Given the description of an element on the screen output the (x, y) to click on. 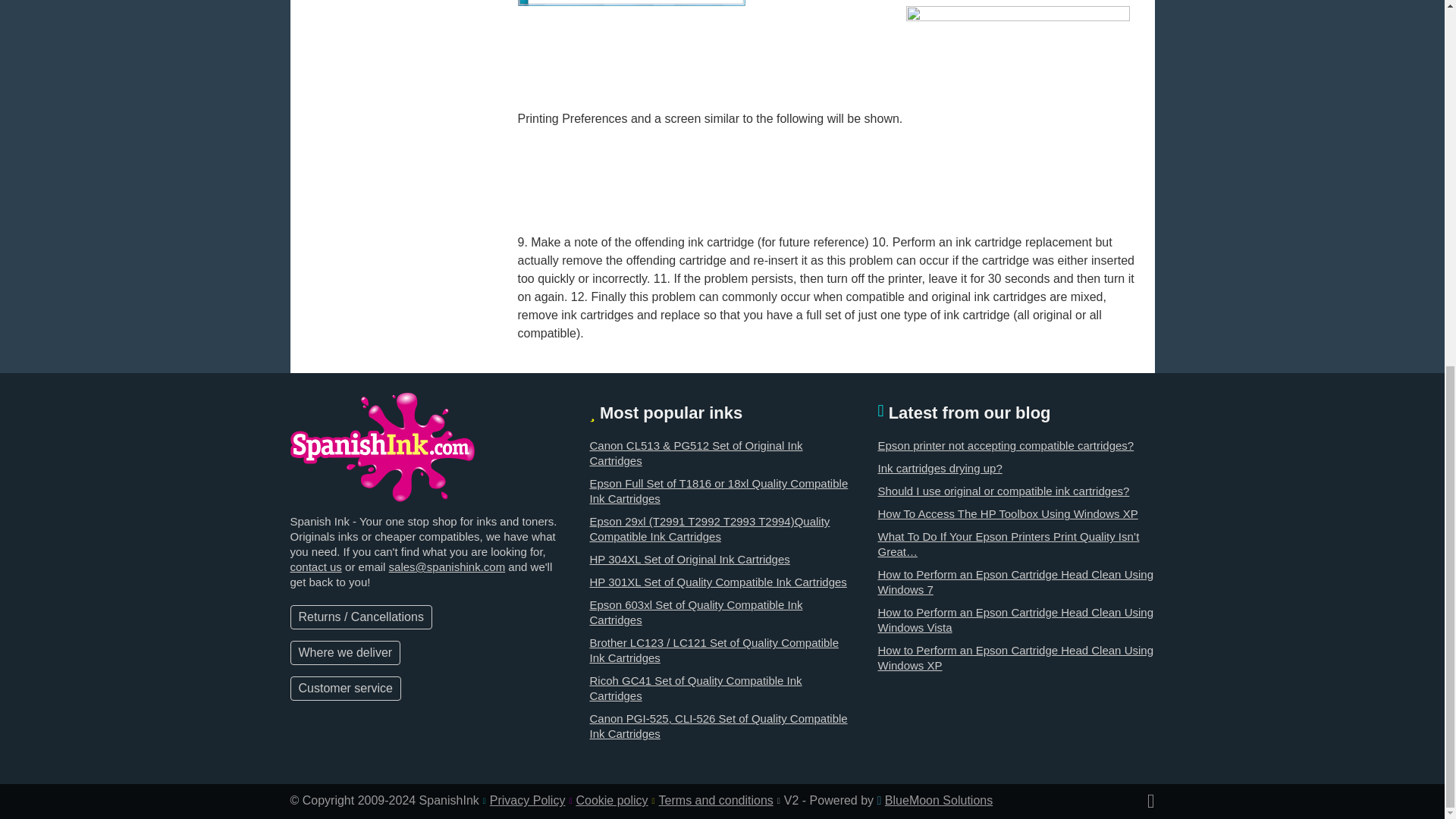
Web Development on the Costa Blanca (938, 799)
Windows 7 Control Panel (630, 2)
HP 304XL Set of Original Ink Cartridges (689, 558)
Epson Printing Preferences (1017, 119)
Customer service (344, 688)
contact us (314, 566)
Where we deliver (344, 652)
HP 301XL Set of Quality Compatible Ink Cartridges (717, 581)
